Given the description of an element on the screen output the (x, y) to click on. 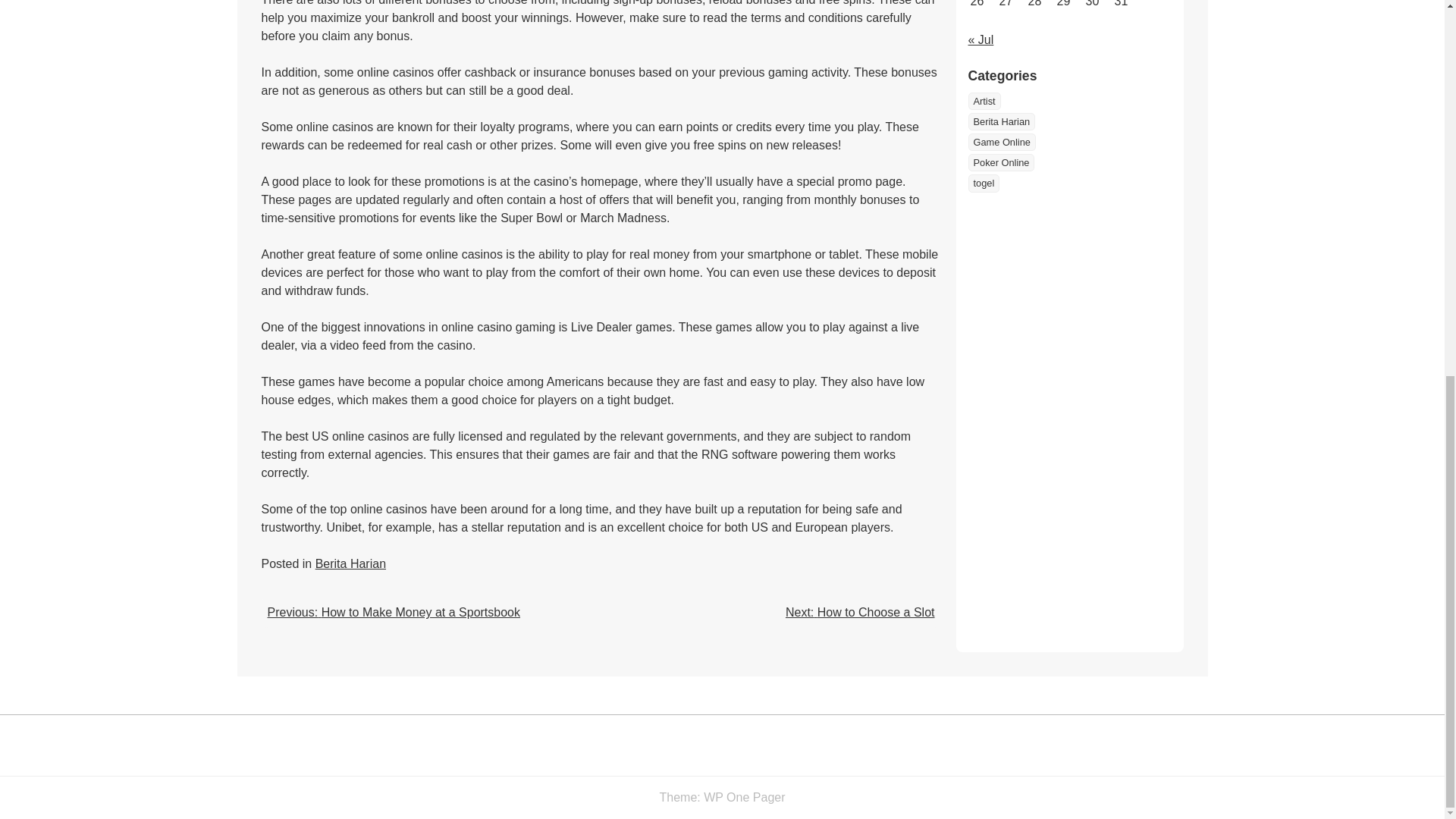
WP One Pager (743, 797)
Next: How to Choose a Slot (860, 612)
Berita Harian (1001, 135)
togel (983, 198)
Berita Harian (1001, 135)
Poker Online (1000, 176)
Artist (984, 115)
Berita Harian (350, 563)
Previous: How to Make Money at a Sportsbook (392, 612)
Game Online (1001, 156)
